Given the description of an element on the screen output the (x, y) to click on. 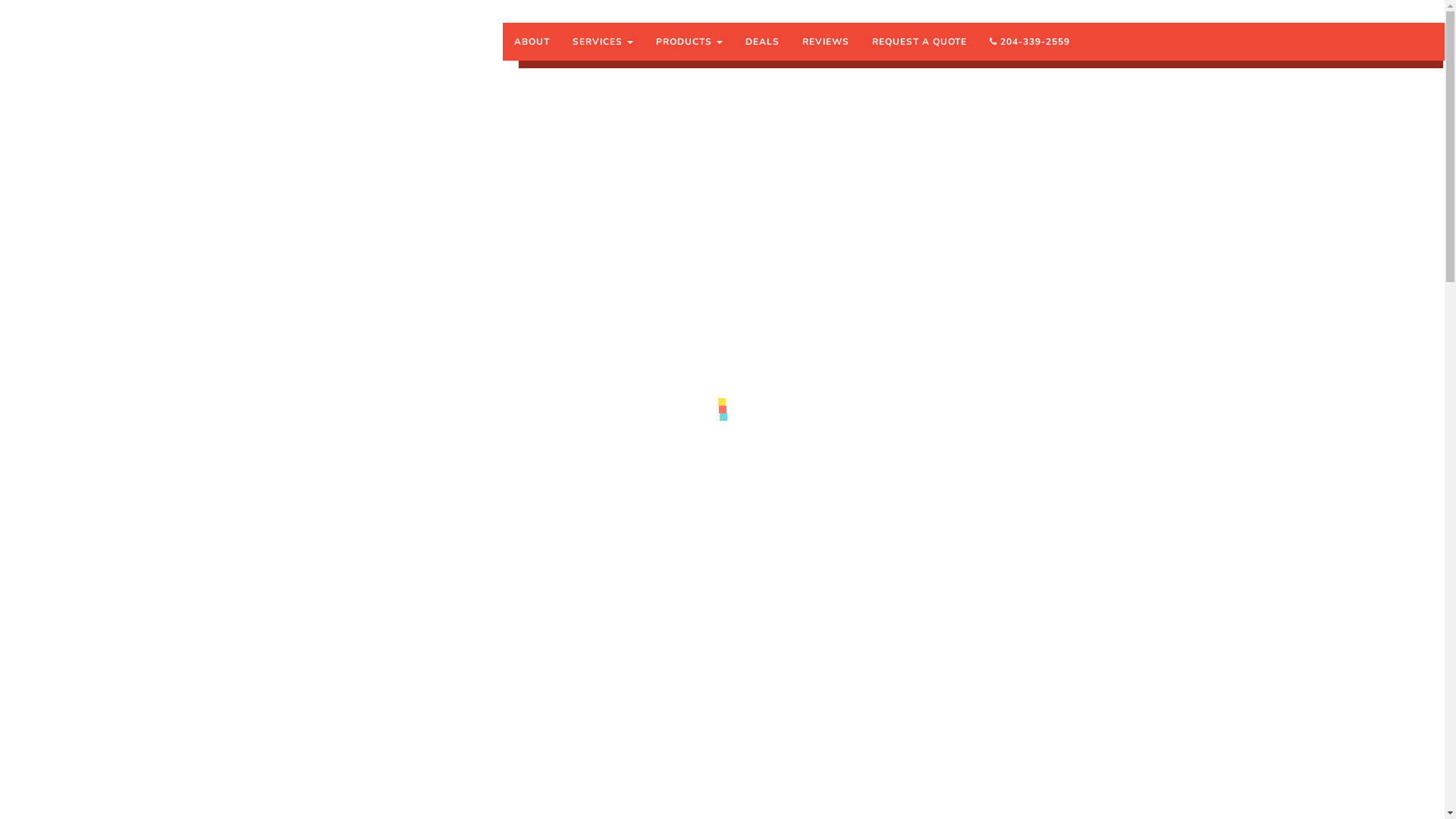
REVIEWS Element type: text (825, 41)
QUOTE Element type: text (403, 400)
574 Total Reviews Element type: text (1010, 452)
ABOUT Element type: text (531, 41)
PRODUCTS Element type: text (689, 41)
DEALS Element type: text (762, 41)
CONTACT Element type: text (608, 400)
SERVICES Element type: text (602, 41)
204-339-2559 Element type: text (1029, 41)
REQUEST A QUOTE Element type: text (919, 41)
